Given the description of an element on the screen output the (x, y) to click on. 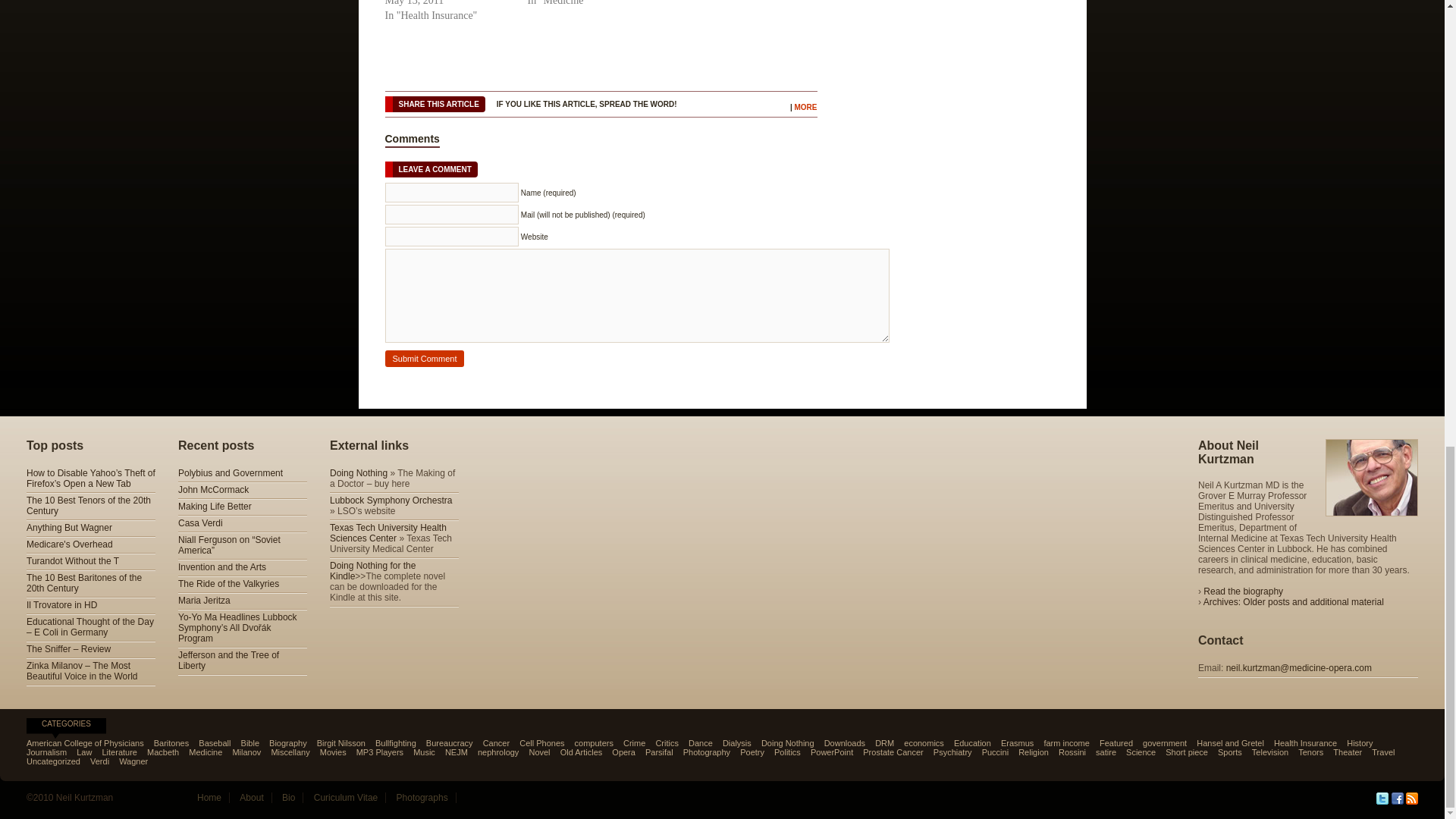
Submit Comment (424, 358)
